Given the description of an element on the screen output the (x, y) to click on. 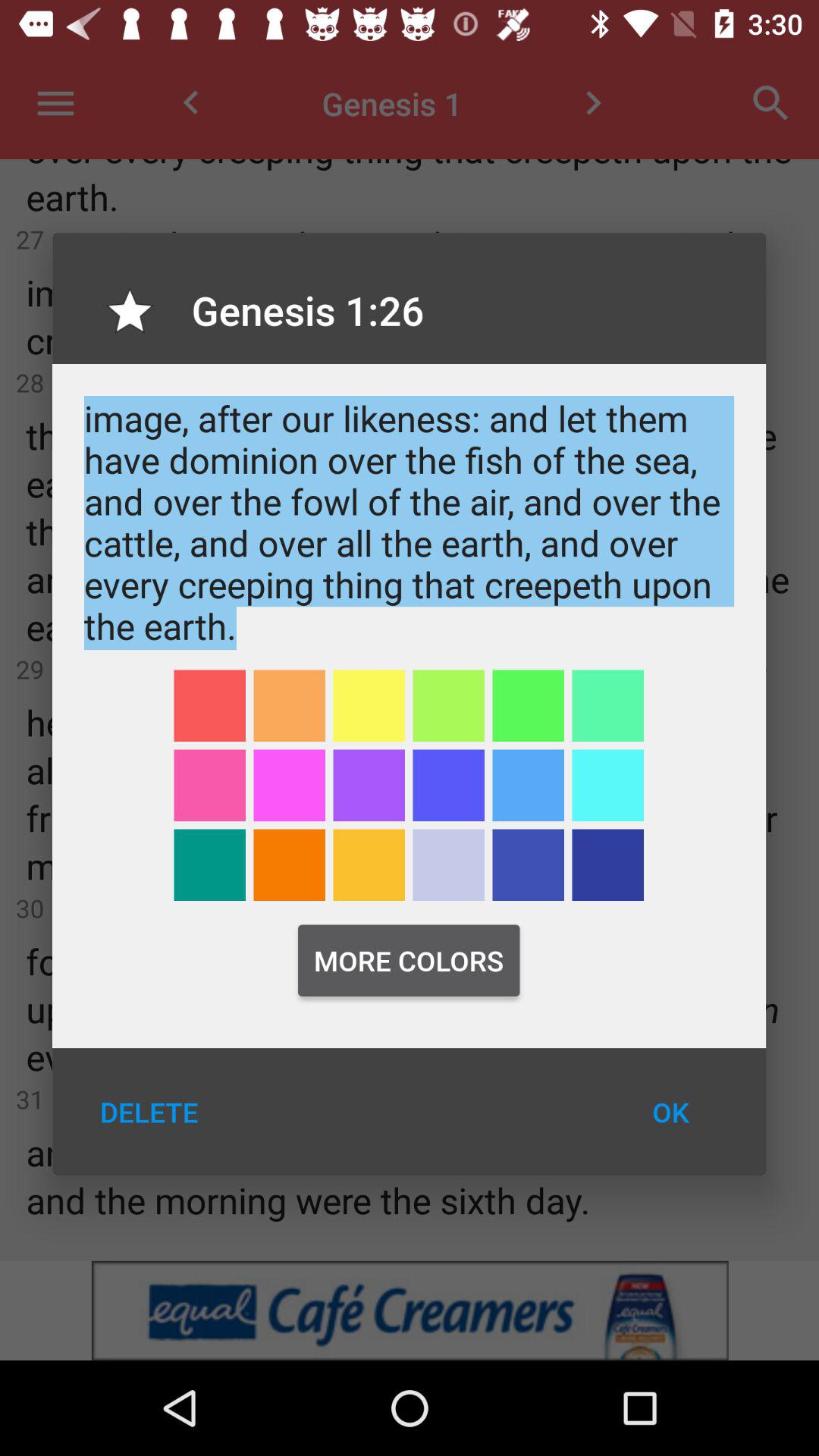
color blue for highlighting words (448, 785)
